Given the description of an element on the screen output the (x, y) to click on. 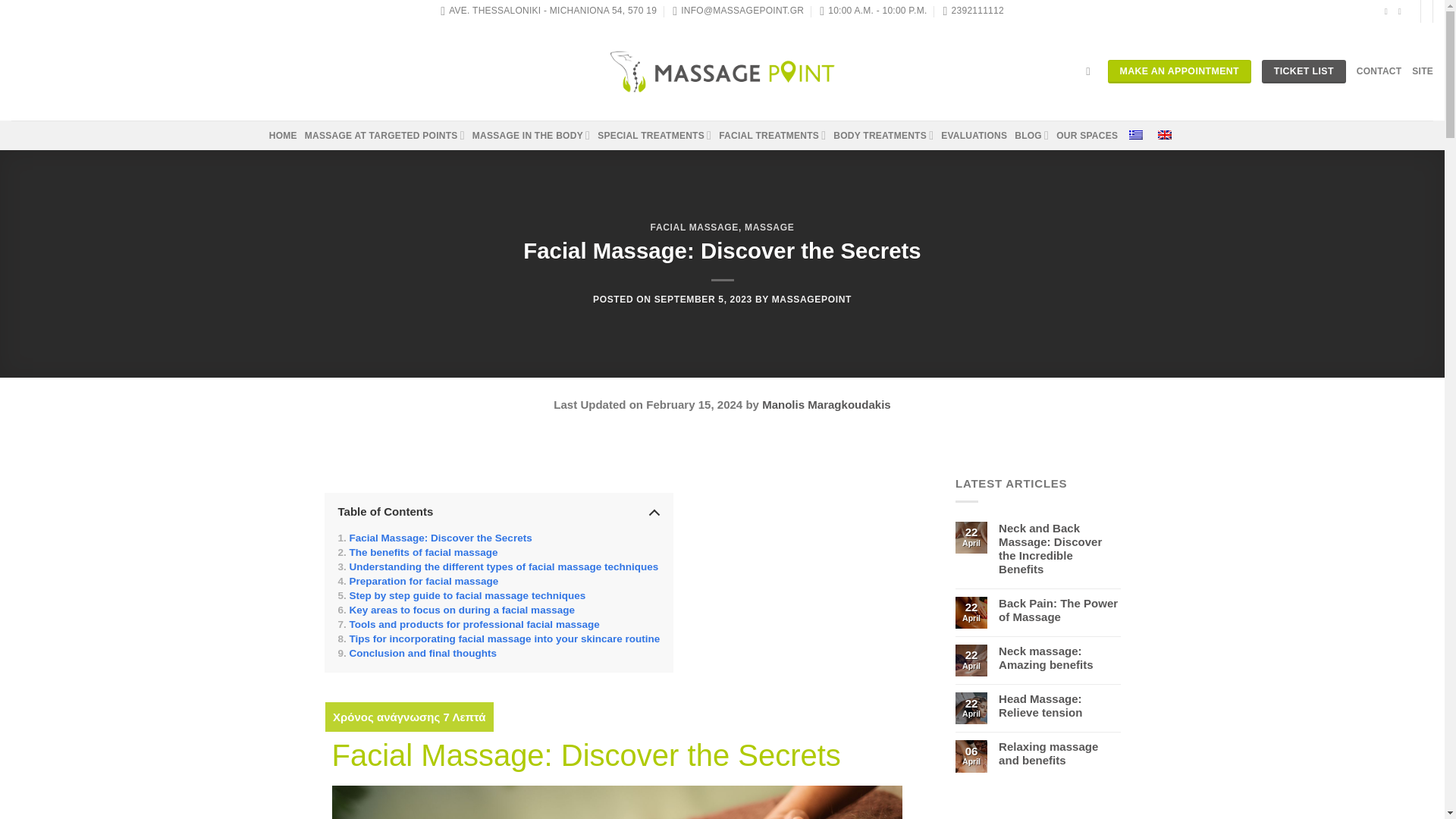
MAKE AN APPOINTMENT (1179, 71)
10:00 a.m. - 10:00 p.m.  (872, 11)
CONTACT (1379, 71)
MASSAGE AT TARGETED POINTS (384, 134)
BODY TREATMENTS (882, 134)
FACIAL TREATMENTS (772, 134)
Ave. Thessaloniki - Michaniona 54, 570 19 (548, 11)
HOME (283, 135)
Massagepoint - Massagepoint (722, 71)
AVE. THESSALONIKI - MICHANIONA 54, 570 19 (548, 11)
